Given the description of an element on the screen output the (x, y) to click on. 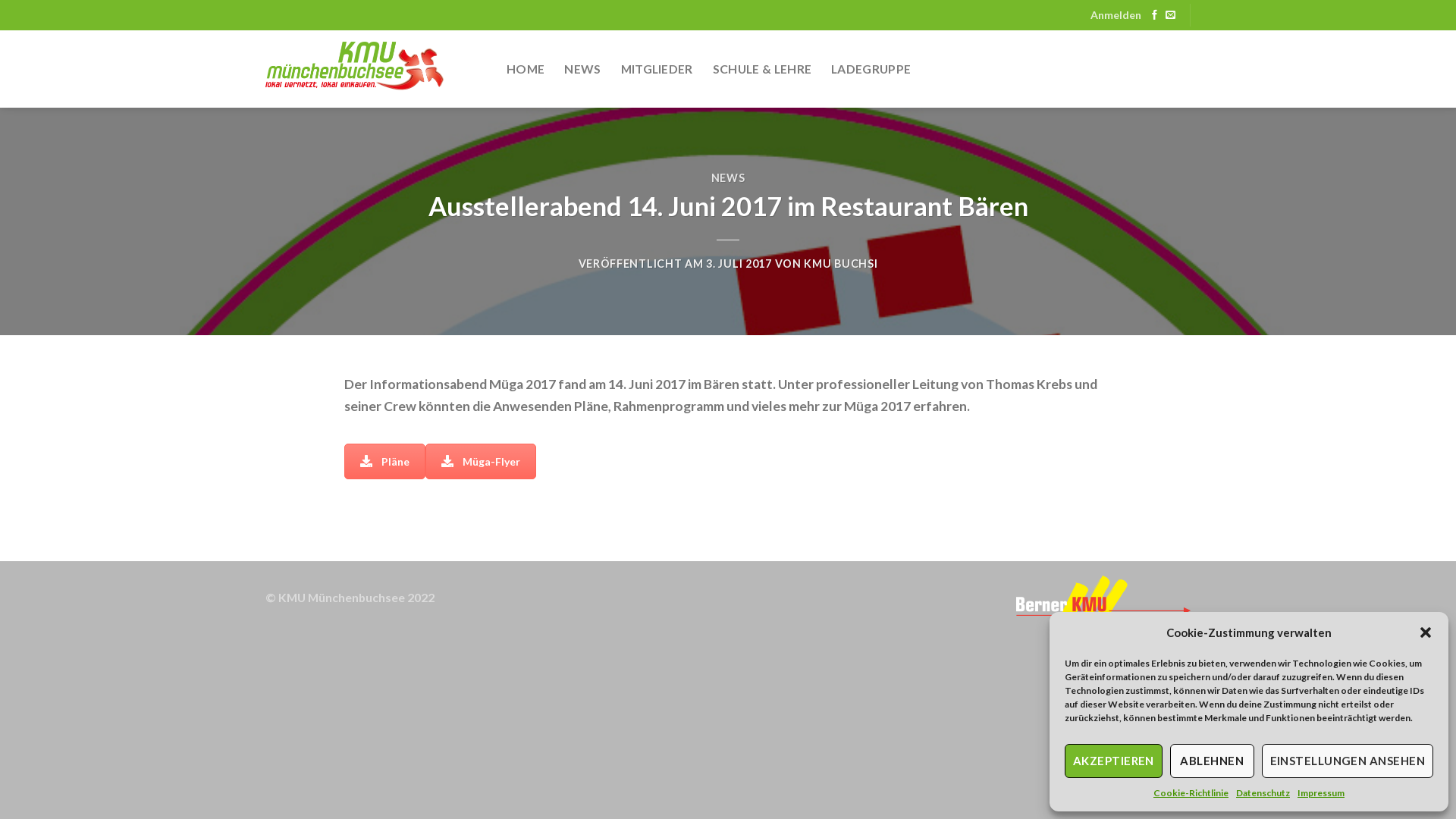
Anmelden Element type: text (1115, 15)
ABLEHNEN Element type: text (1212, 760)
Datenschutz Element type: text (1262, 792)
3. JULI 2017 Element type: text (738, 263)
Auf Facebook folgen Element type: hover (1154, 15)
EINSTELLUNGEN ANSEHEN Element type: text (1347, 760)
KMU Buchsi Element type: hover (374, 68)
Sende uns eine E-Mail Element type: hover (1170, 15)
SCHULE & LEHRE Element type: text (761, 68)
LADEGRUPPE Element type: text (870, 68)
HOME Element type: text (525, 68)
NEWS Element type: text (728, 177)
MITGLIEDER Element type: text (657, 68)
AKZEPTIEREN Element type: text (1113, 760)
Cookie-Richtlinie Element type: text (1190, 792)
KMU BUCHSI Element type: text (840, 263)
NEWS Element type: text (582, 68)
Impressum Element type: text (1320, 792)
